Given the description of an element on the screen output the (x, y) to click on. 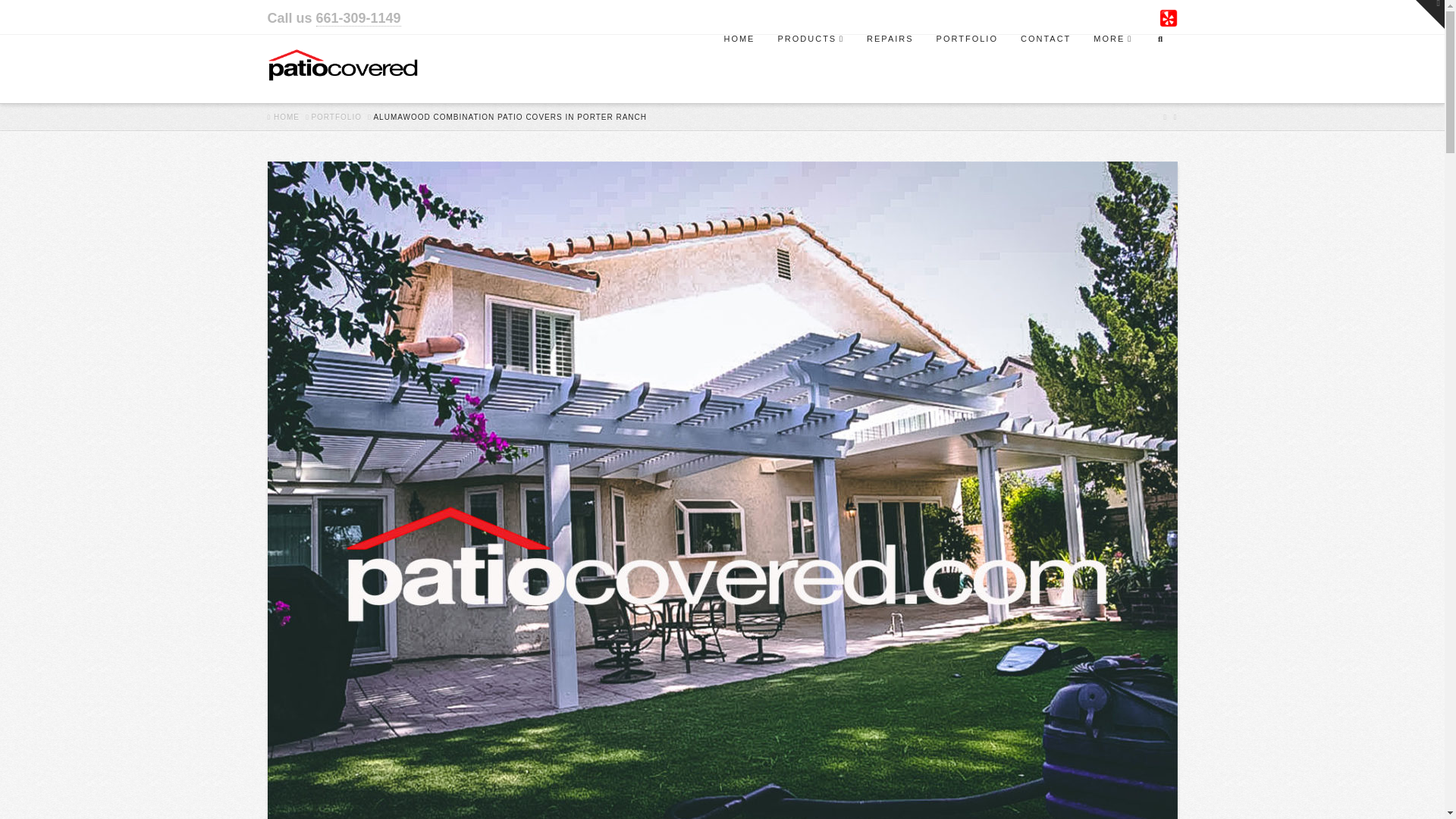
CONTACT (1045, 69)
PRODUCTS (809, 69)
PORTFOLIO (966, 69)
You Are Here (509, 117)
REPAIRS (889, 69)
MORE (1111, 69)
Yelp (1167, 17)
661-309-1149 (358, 18)
